Given the description of an element on the screen output the (x, y) to click on. 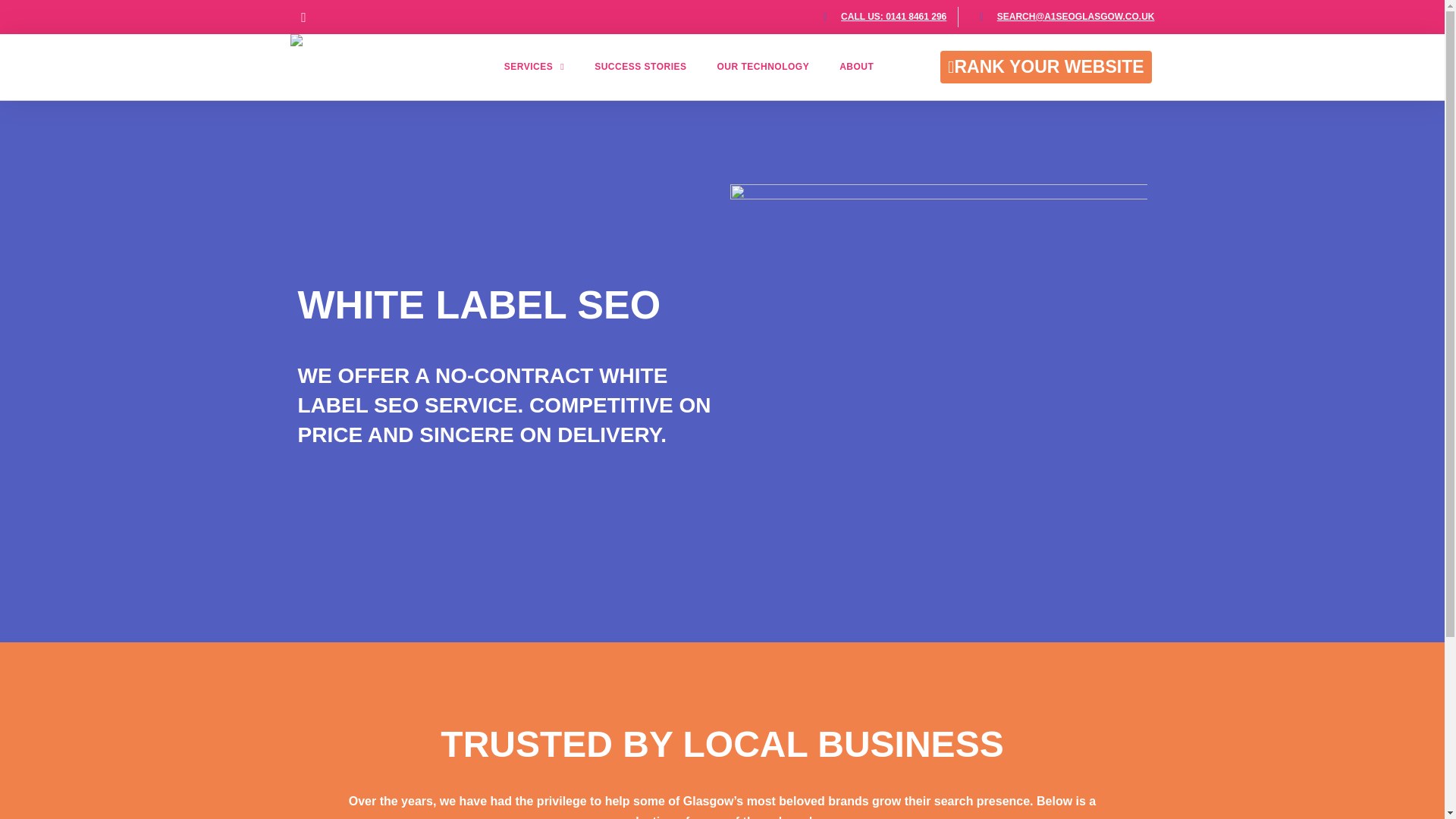
SUCCESS STORIES (640, 66)
OUR TECHNOLOGY (762, 66)
RANK YOUR WEBSITE (1045, 66)
CALL US: 0141 8461 296 (893, 16)
ABOUT (856, 66)
SERVICES (534, 66)
